Given the description of an element on the screen output the (x, y) to click on. 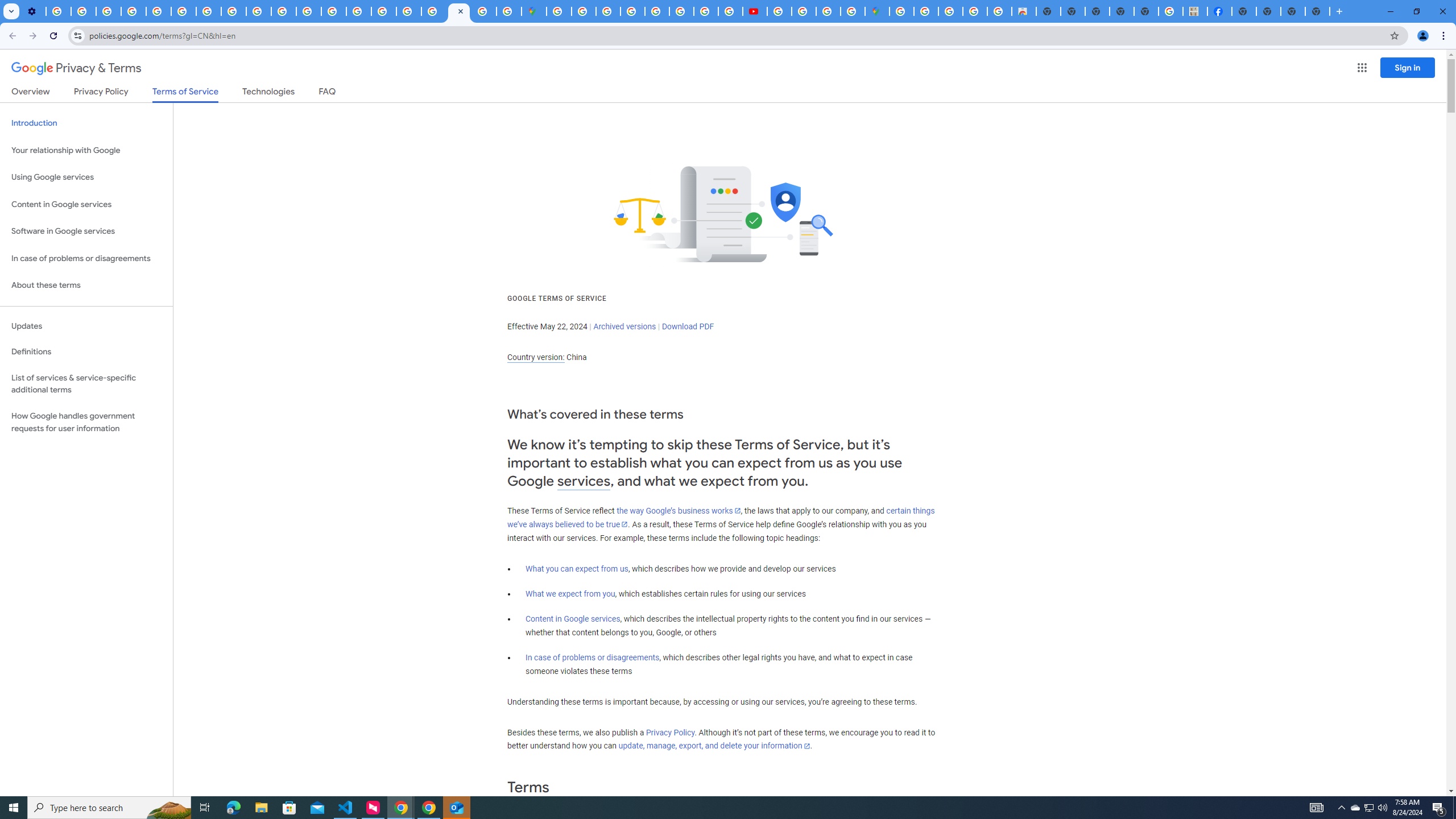
Google Maps (876, 11)
